Given the description of an element on the screen output the (x, y) to click on. 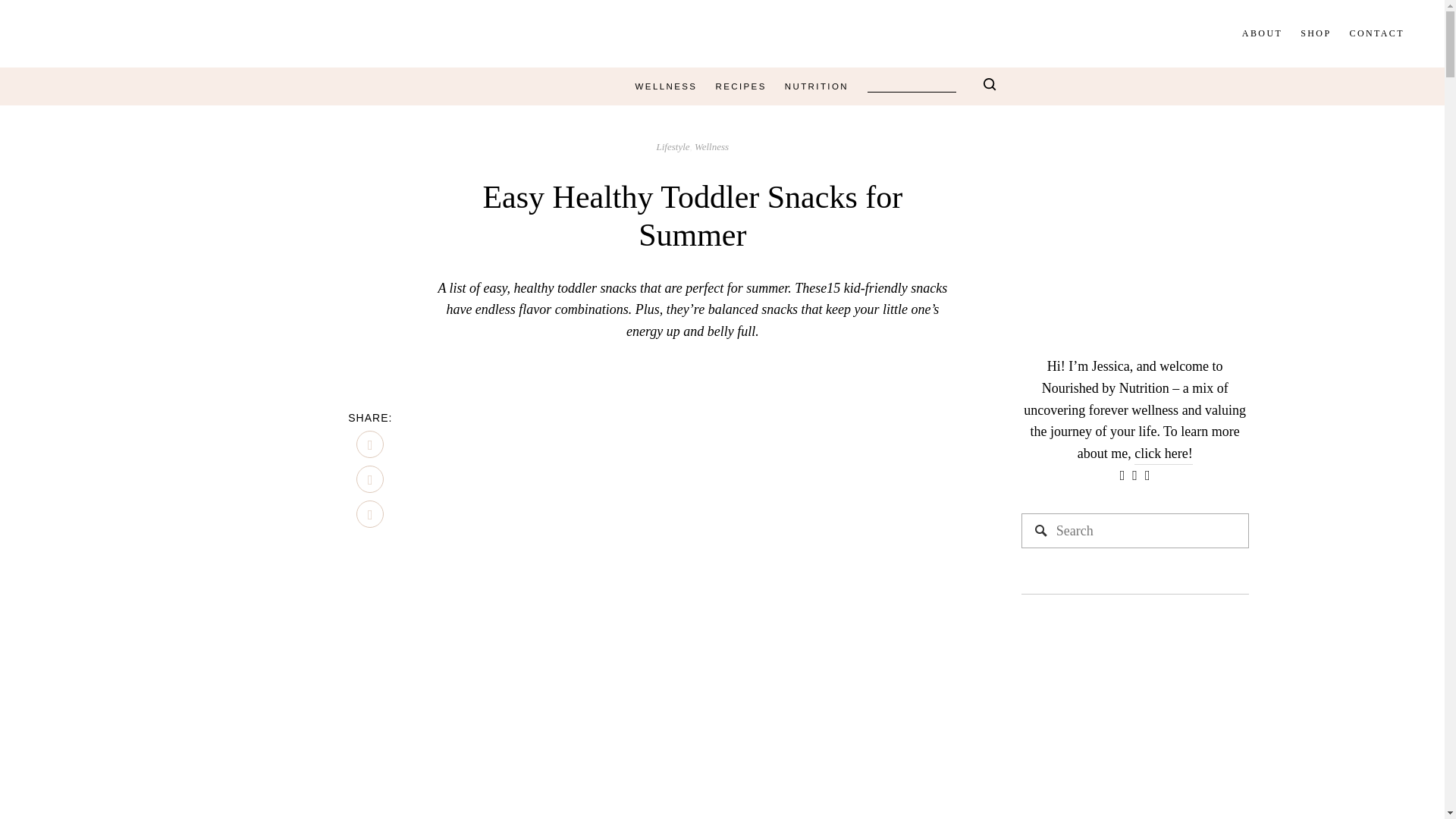
WELLNESS (665, 85)
RECIPES (739, 85)
SHOP (1315, 32)
NUTRITION (816, 85)
ABOUT (1261, 32)
CONTACT (1377, 32)
